Given the description of an element on the screen output the (x, y) to click on. 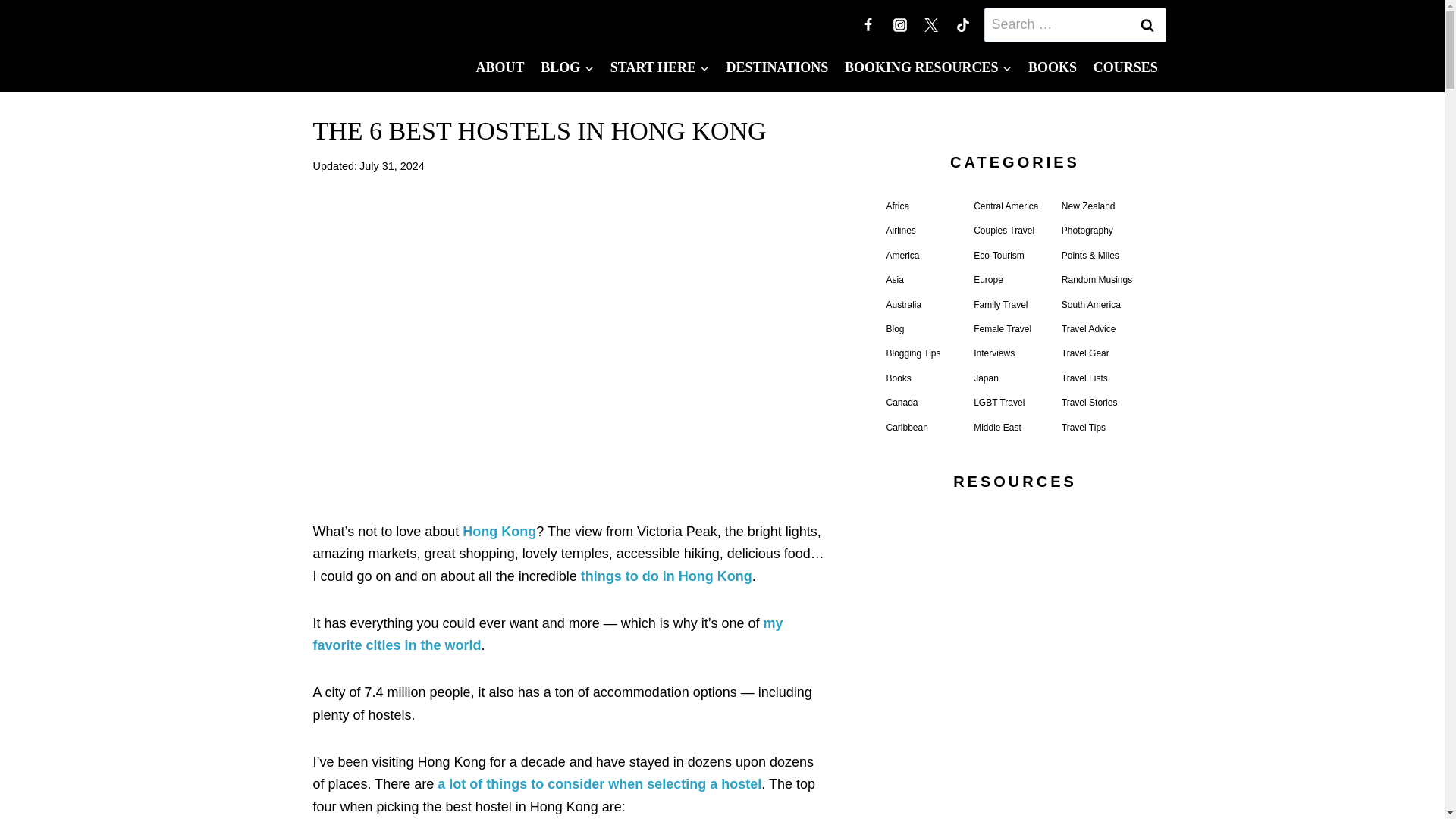
BOOKS (1052, 67)
BOOKING RESOURCES (927, 67)
DESTINATIONS (776, 67)
START HERE (659, 67)
BLOG (567, 67)
Search (1147, 24)
COURSES (1125, 67)
Search (1147, 24)
Search (1147, 24)
ABOUT (499, 67)
